Given the description of an element on the screen output the (x, y) to click on. 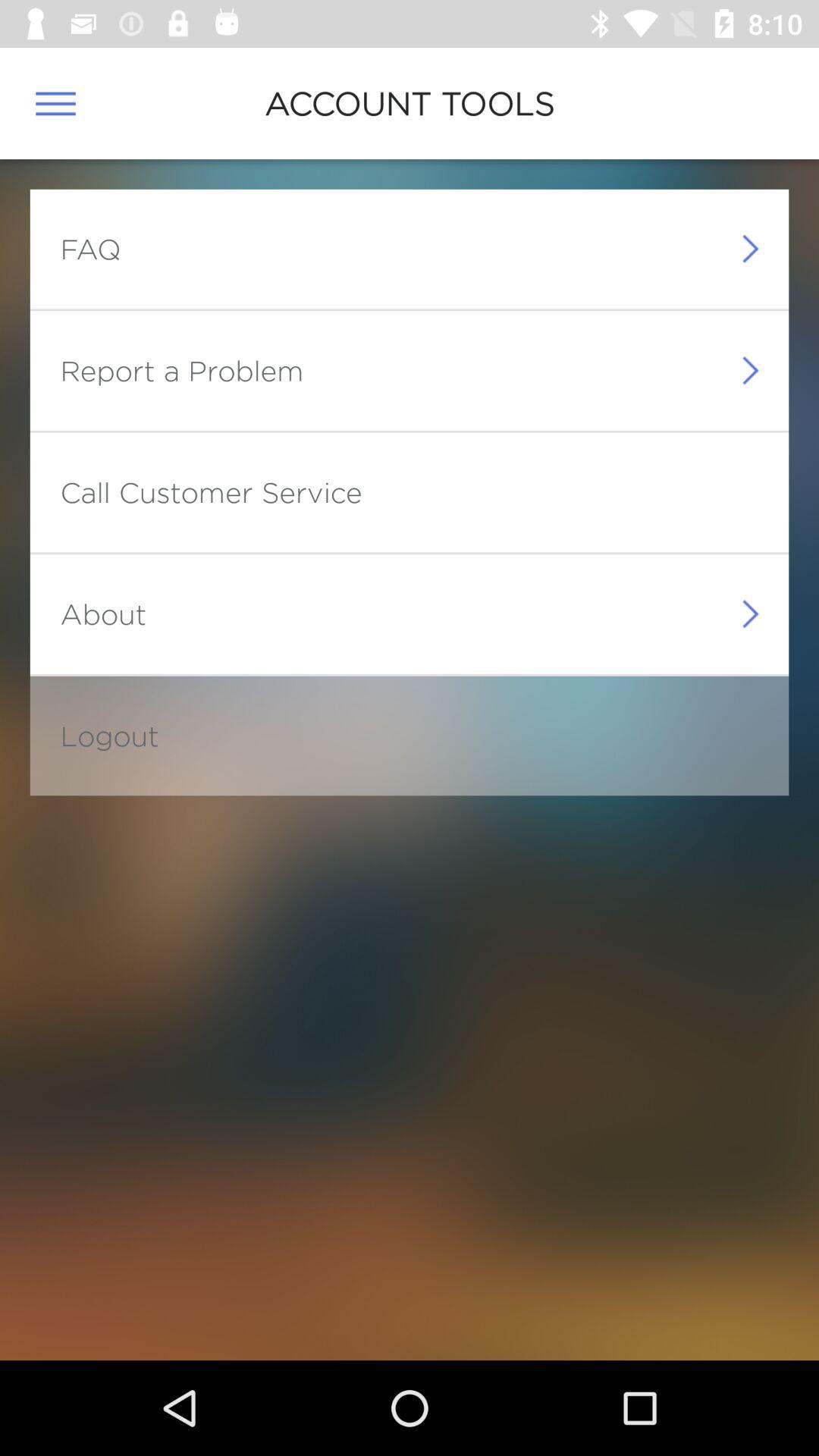
open the app next to account tools item (55, 103)
